Given the description of an element on the screen output the (x, y) to click on. 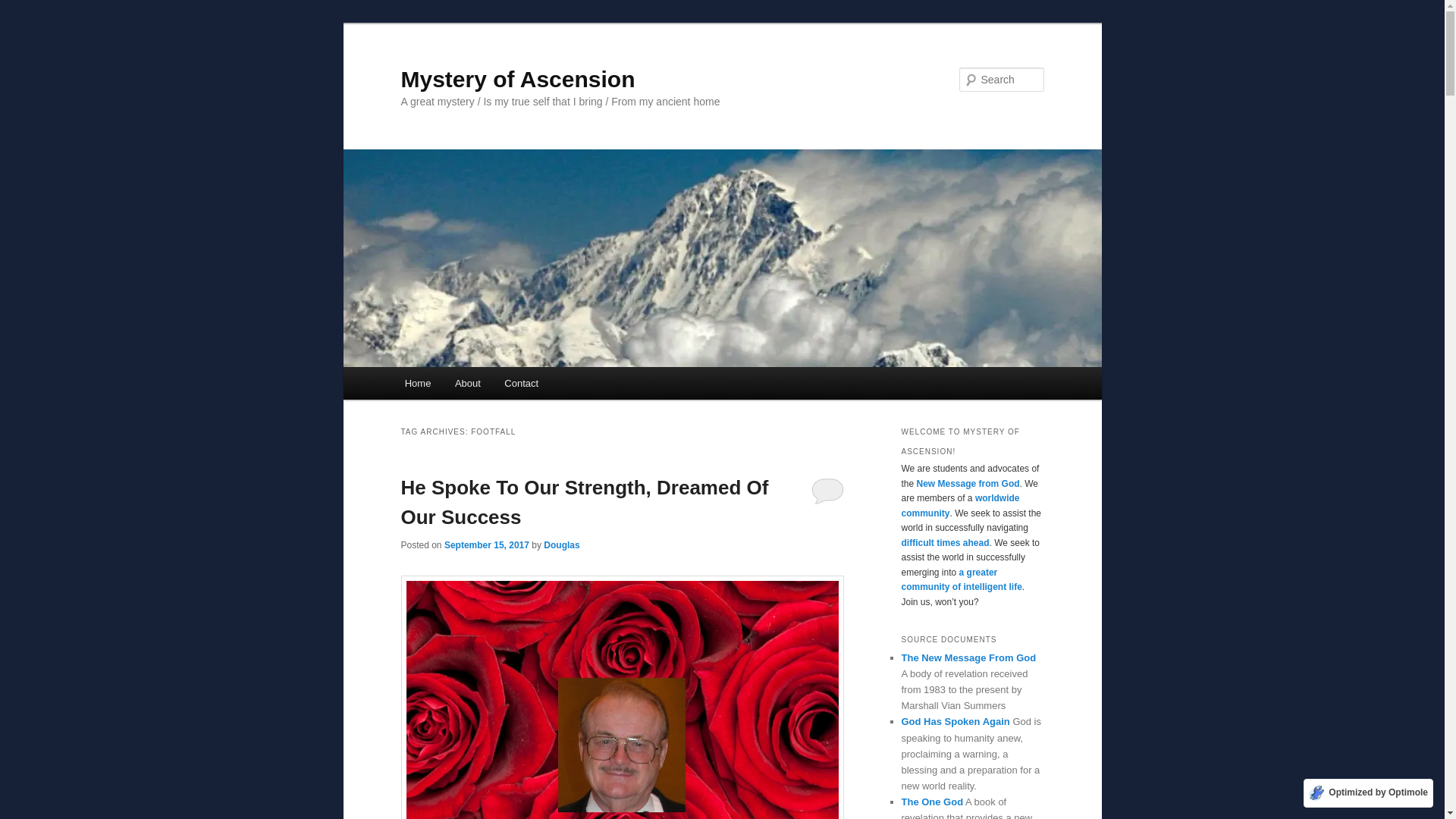
Home (417, 382)
September 15, 2017 (486, 544)
Mystery of Ascension (517, 78)
Douglas (561, 544)
View all posts by Douglas (561, 544)
About (467, 382)
12:30 PM (486, 544)
Contact (521, 382)
Search (24, 8)
He Spoke To Our Strength, Dreamed Of Our Success (584, 501)
